Given the description of an element on the screen output the (x, y) to click on. 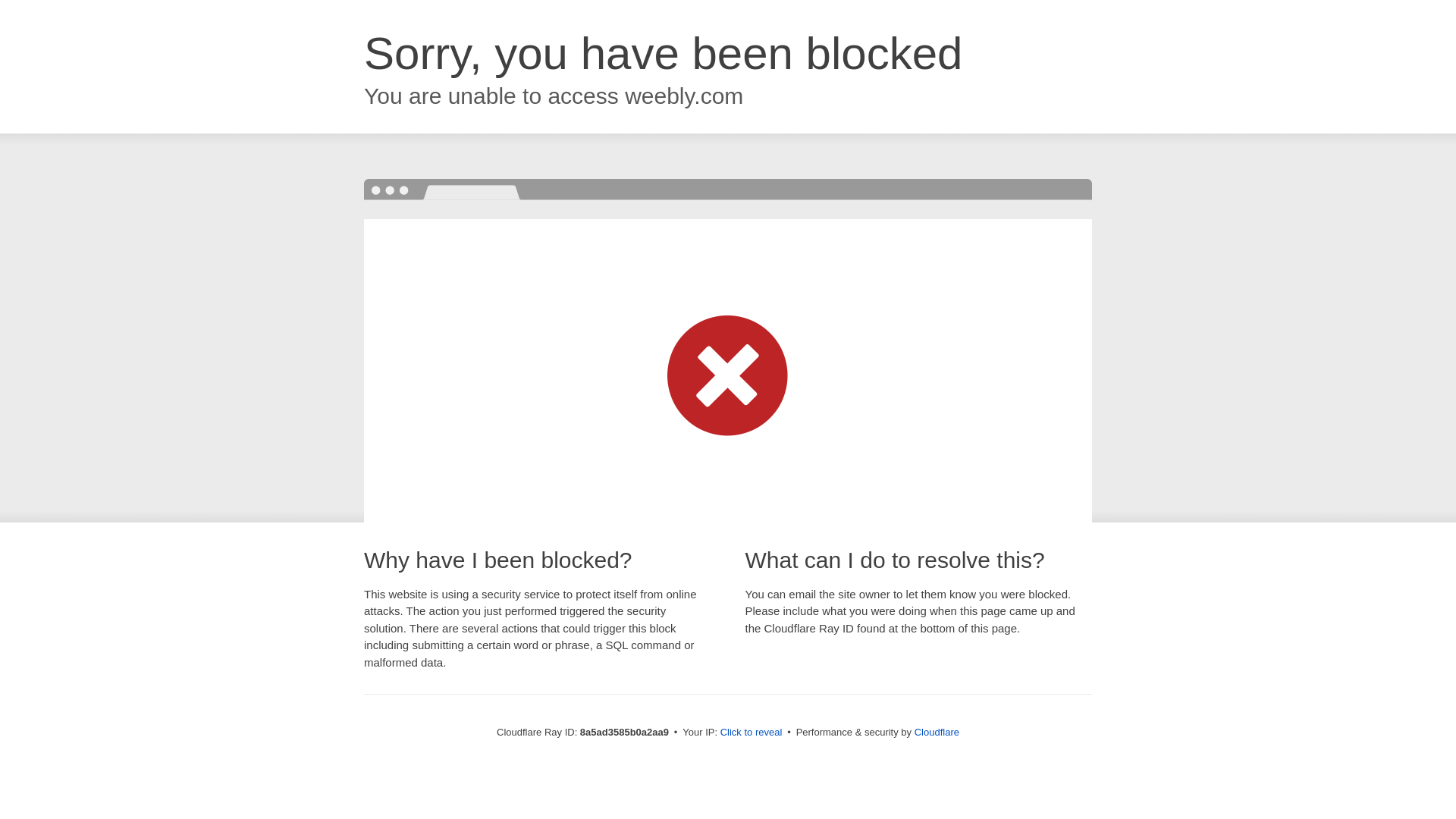
Cloudflare (936, 731)
Click to reveal (751, 732)
